Given the description of an element on the screen output the (x, y) to click on. 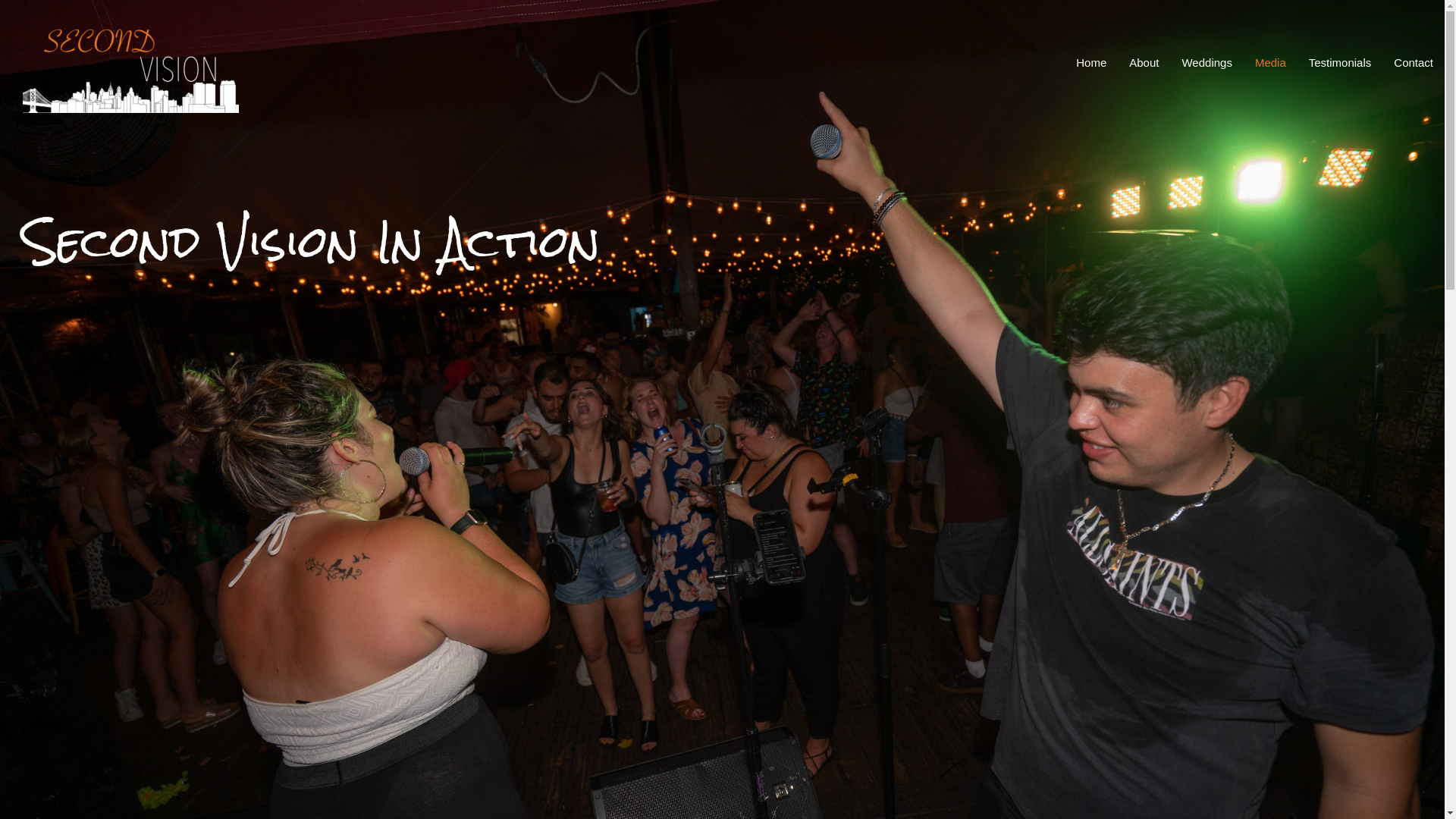
Home Element type: text (1090, 62)
Contact Element type: text (1413, 62)
About Element type: text (1143, 62)
Media Element type: text (1270, 62)
Weddings Element type: text (1206, 62)
Testimonials Element type: text (1340, 62)
